Given the description of an element on the screen output the (x, y) to click on. 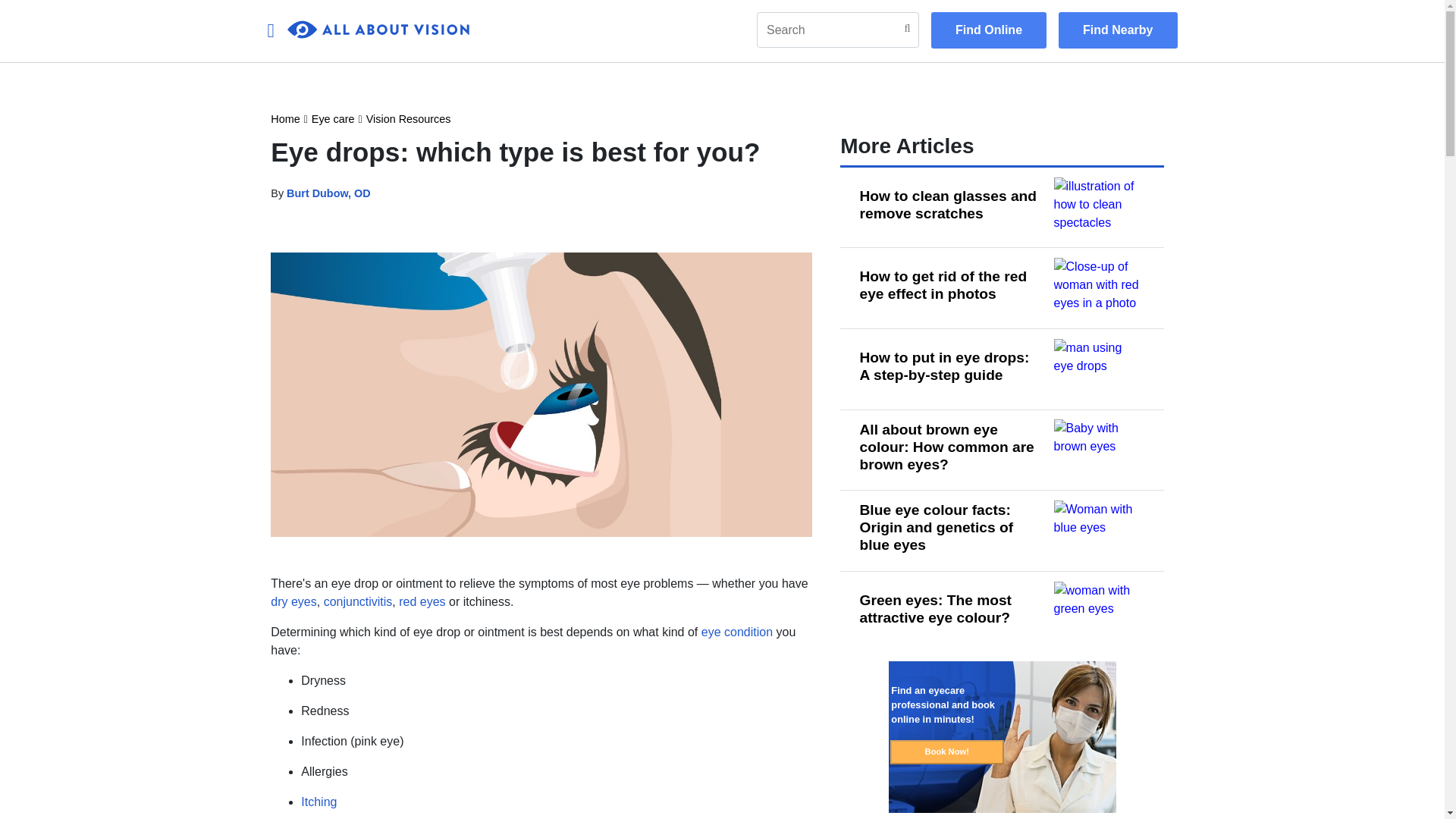
0 (377, 29)
Itching (318, 801)
illustration of how to clean spectacles (1099, 207)
red eyes (421, 601)
Find Online (988, 30)
Baby with brown eyes (1099, 449)
Close-up of woman with red eyes in a photo (1099, 287)
dry eyes (292, 601)
man using eye drops (1099, 369)
eye condition (737, 631)
